Given the description of an element on the screen output the (x, y) to click on. 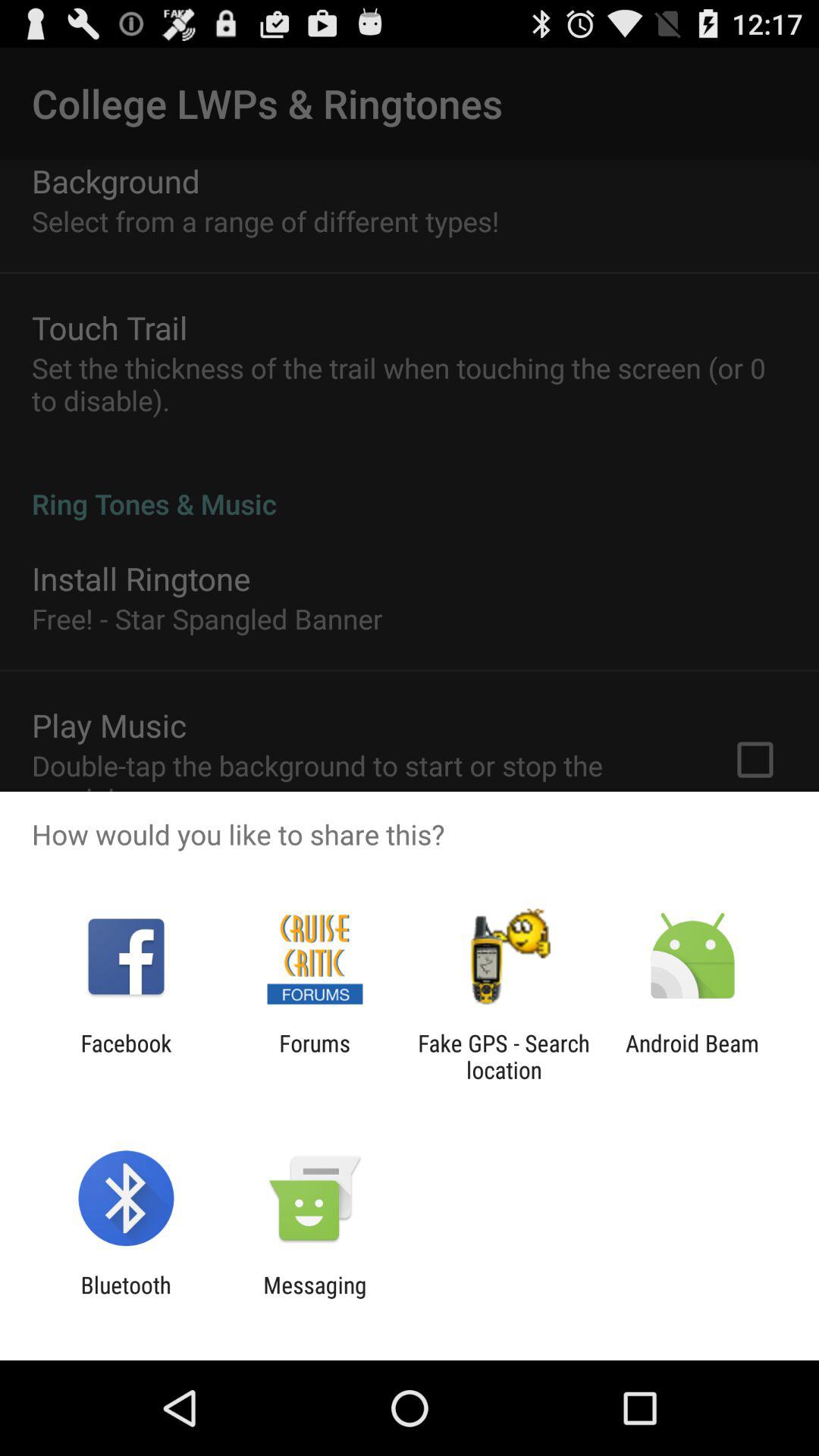
click the android beam (692, 1056)
